Given the description of an element on the screen output the (x, y) to click on. 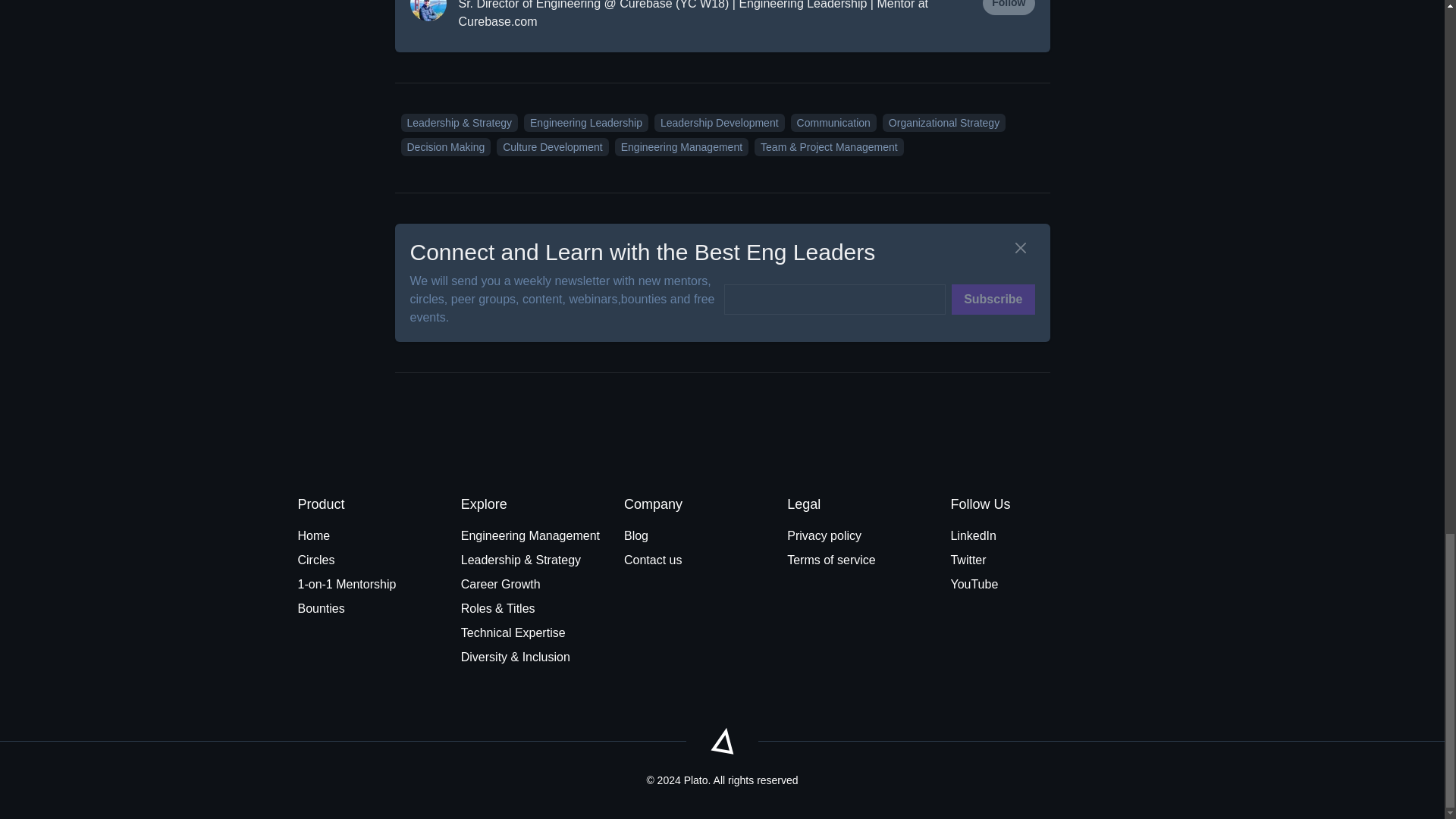
Engineering Management (678, 146)
Leadership Development (715, 122)
Organizational Strategy (941, 122)
Follow (1007, 7)
Communication (830, 122)
Engineering Leadership (582, 122)
Culture Development (549, 146)
Decision Making (442, 146)
